Given the description of an element on the screen output the (x, y) to click on. 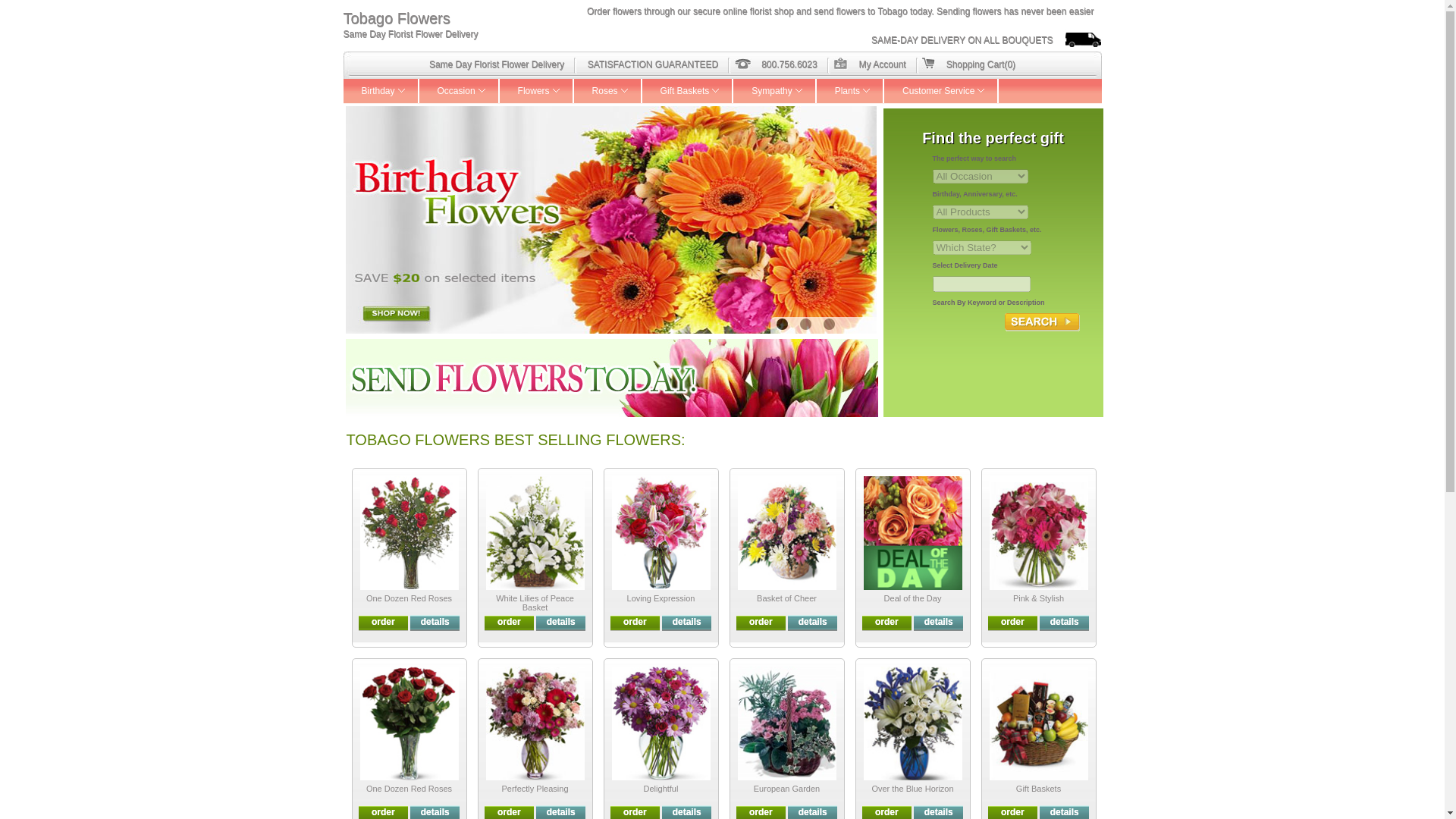
Occasion (459, 90)
Birthday (380, 90)
Roses (607, 90)
Search (1042, 321)
Flowers (536, 90)
Search (1042, 321)
